Given the description of an element on the screen output the (x, y) to click on. 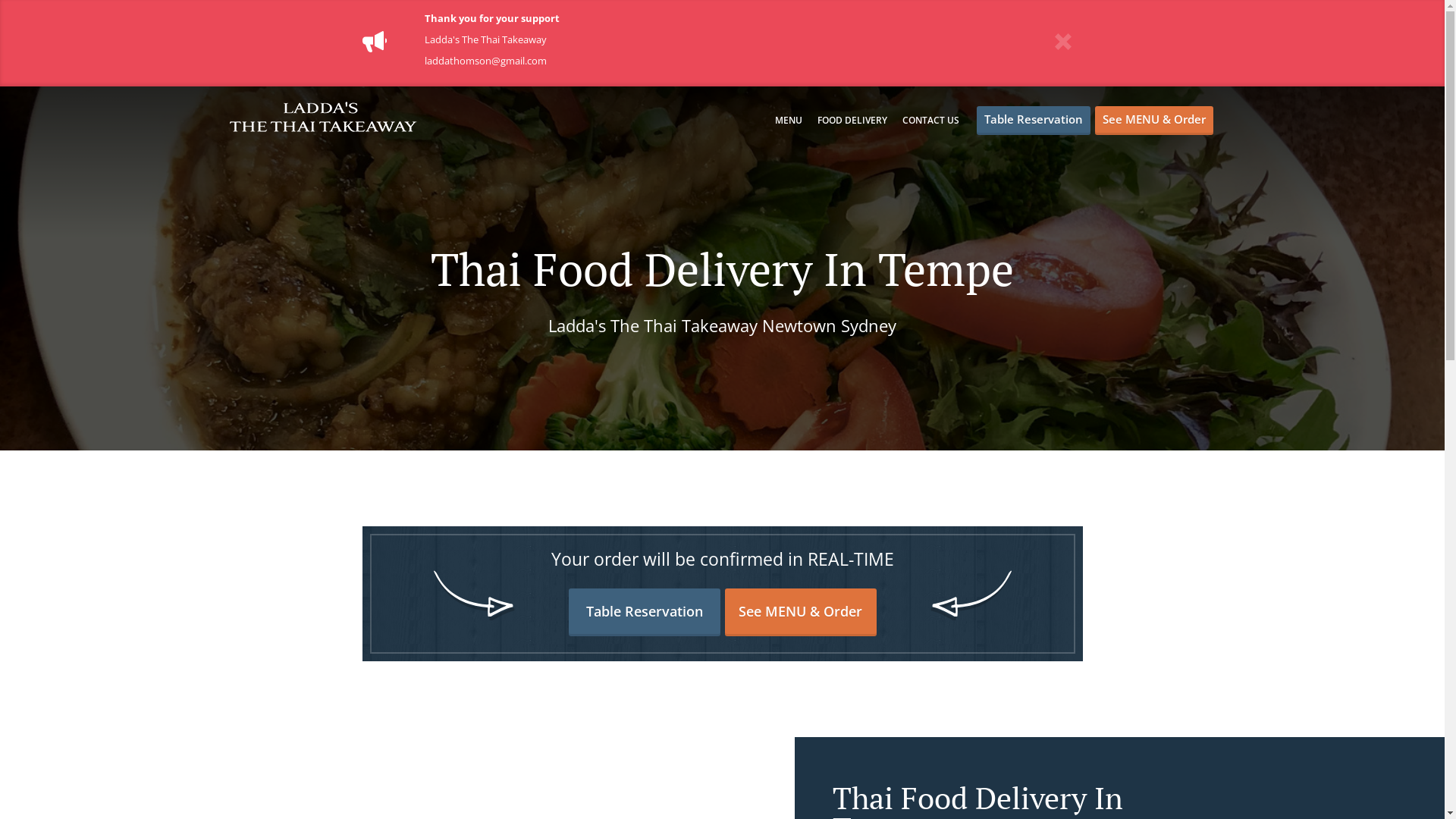
FOOD DELIVERY Element type: text (852, 119)
laddathomson@gmail.com Element type: text (485, 60)
MENU Element type: text (788, 119)
CONTACT US Element type: text (930, 119)
